Given the description of an element on the screen output the (x, y) to click on. 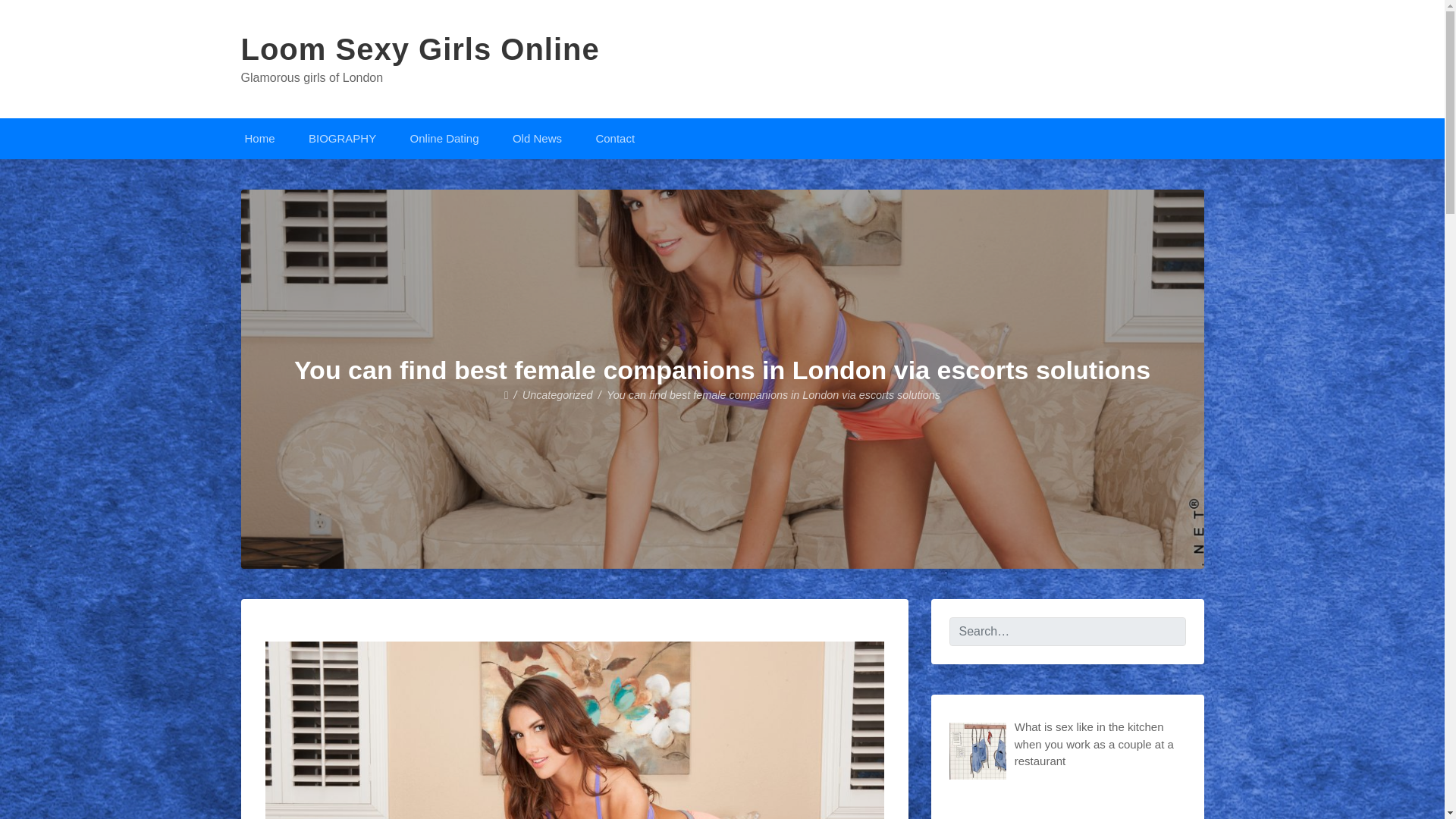
Loom Sexy Girls Online (420, 49)
BIOGRAPHY (342, 137)
Old News (536, 137)
Uncategorized (557, 395)
Home (258, 137)
Online Dating (444, 137)
Contact (614, 137)
